Given the description of an element on the screen output the (x, y) to click on. 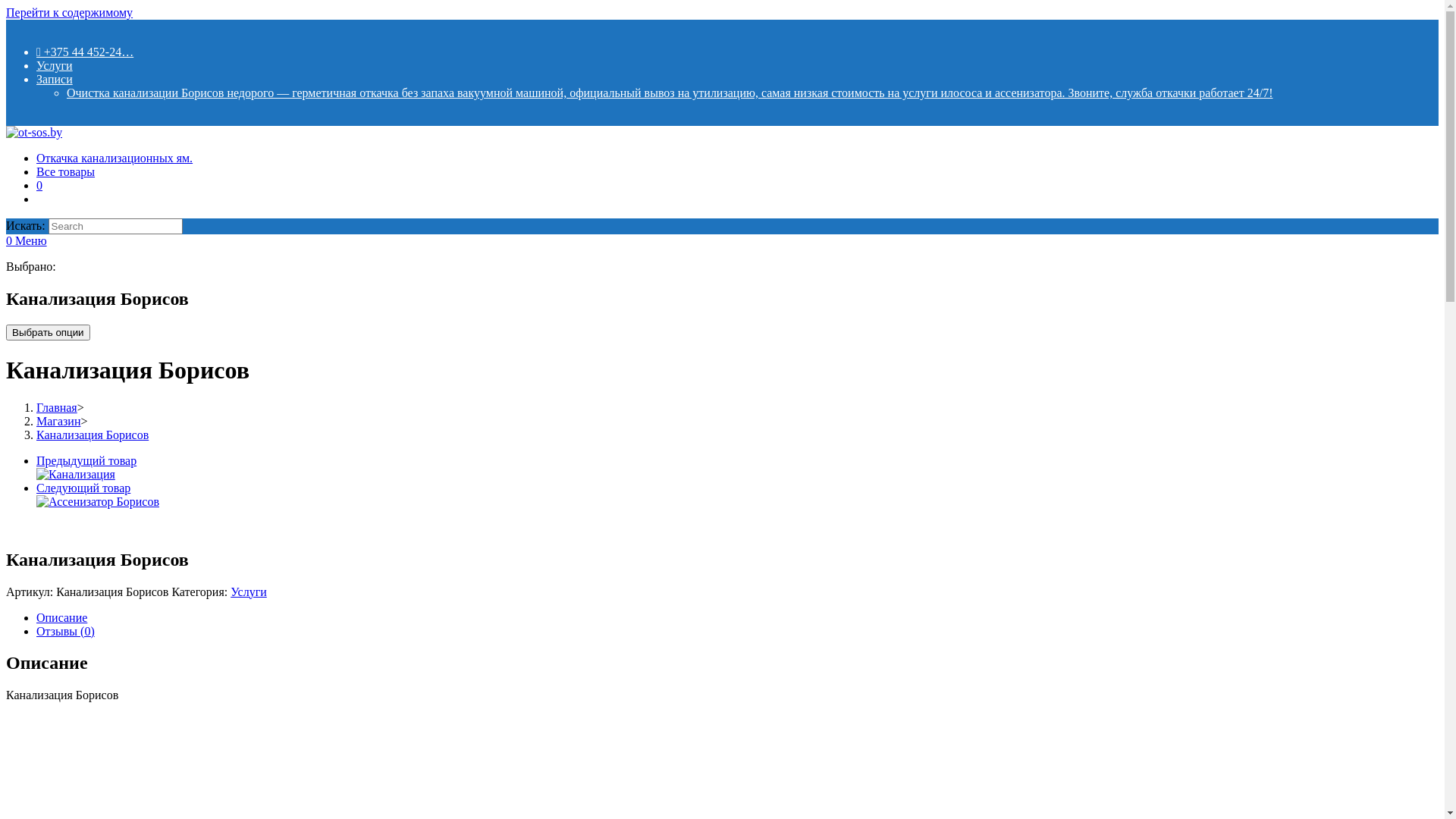
0 Element type: text (39, 184)
0 Element type: text (10, 240)
